Given the description of an element on the screen output the (x, y) to click on. 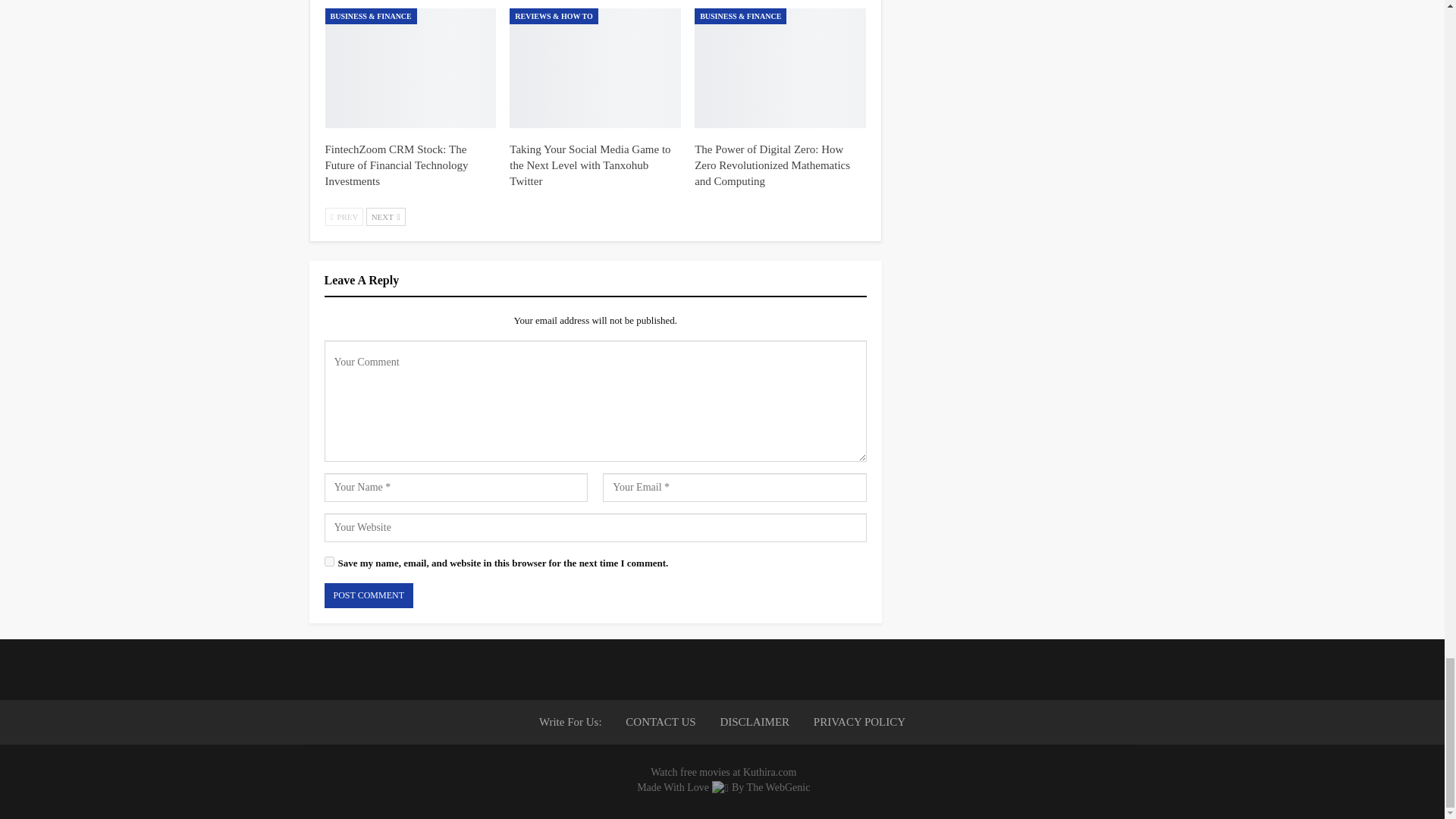
Post Comment (368, 595)
yes (329, 561)
